Given the description of an element on the screen output the (x, y) to click on. 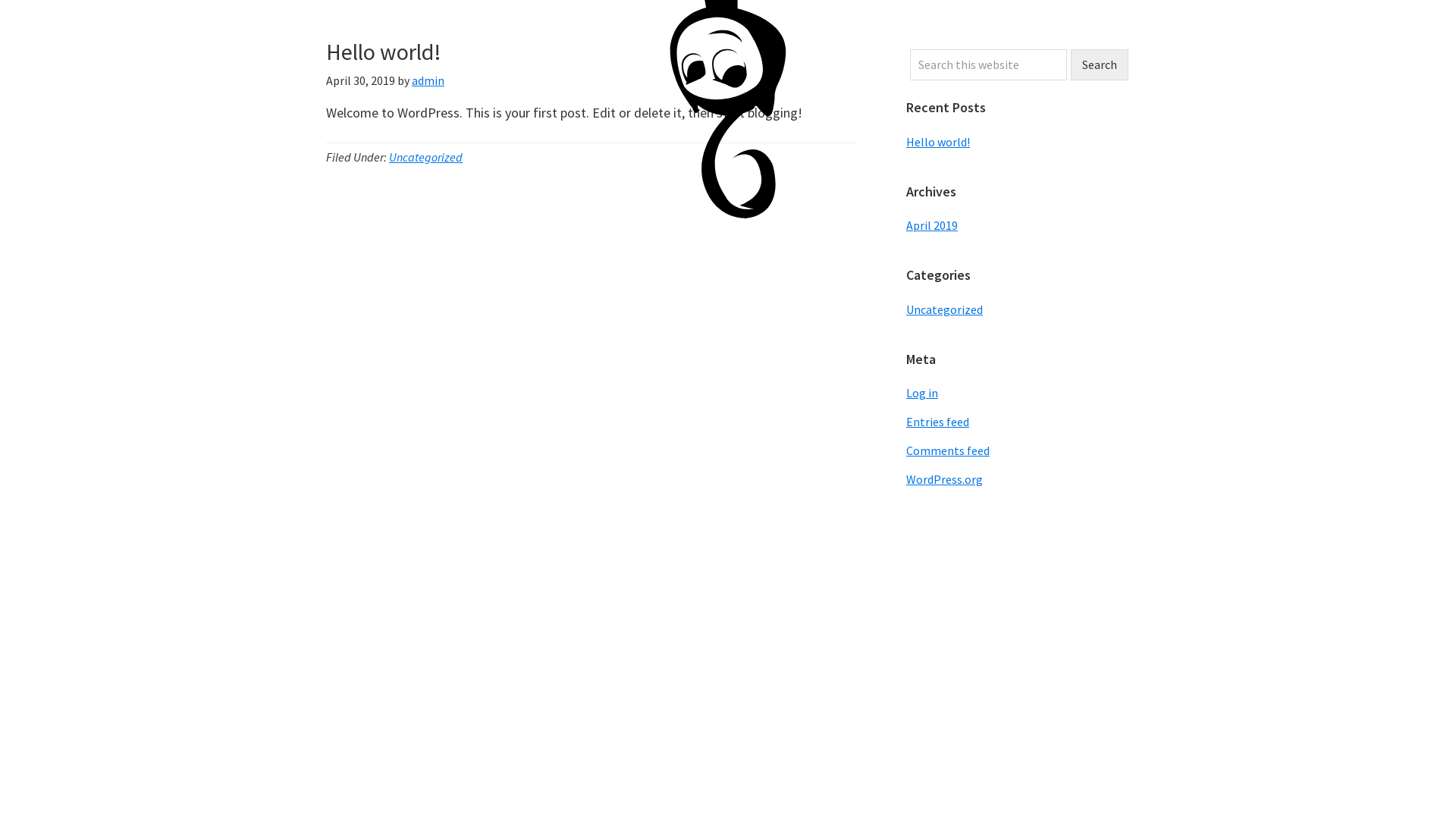
Uncategorized Element type: text (425, 156)
Search Element type: text (1099, 64)
Entries feed Element type: text (937, 421)
April 2019 Element type: text (931, 224)
admin Element type: text (427, 79)
Comments feed Element type: text (947, 450)
Uncategorized Element type: text (944, 308)
Hello world! Element type: text (937, 140)
Skip to main content Element type: text (0, 0)
WordPress.org Element type: text (944, 478)
Log in Element type: text (922, 392)
